Given the description of an element on the screen output the (x, y) to click on. 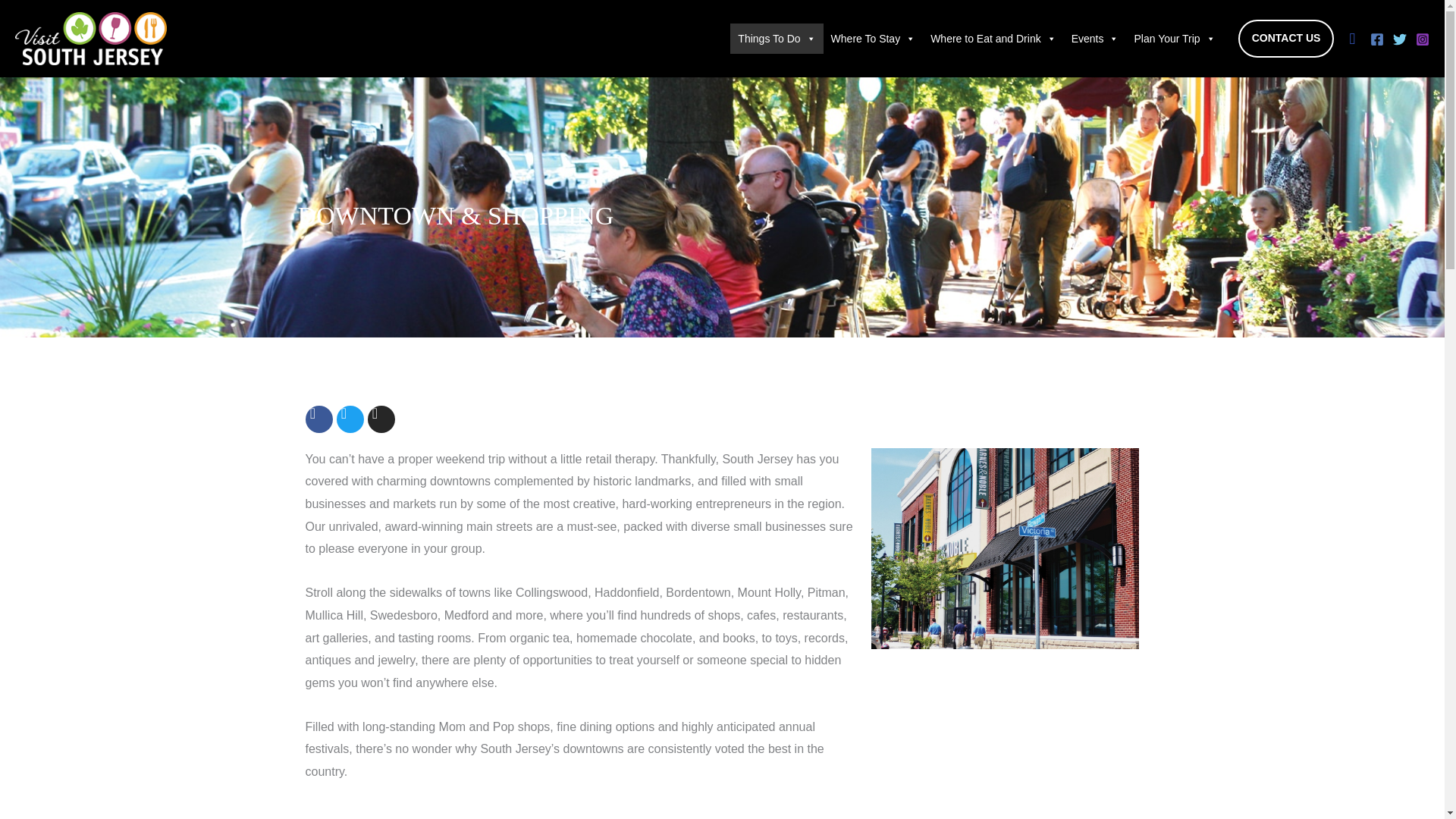
CONTACT US (1287, 38)
Events (1095, 38)
Where To Stay (873, 38)
Where to Eat and Drink (993, 38)
Plan Your Trip (1174, 38)
Things To Do (776, 38)
